Given the description of an element on the screen output the (x, y) to click on. 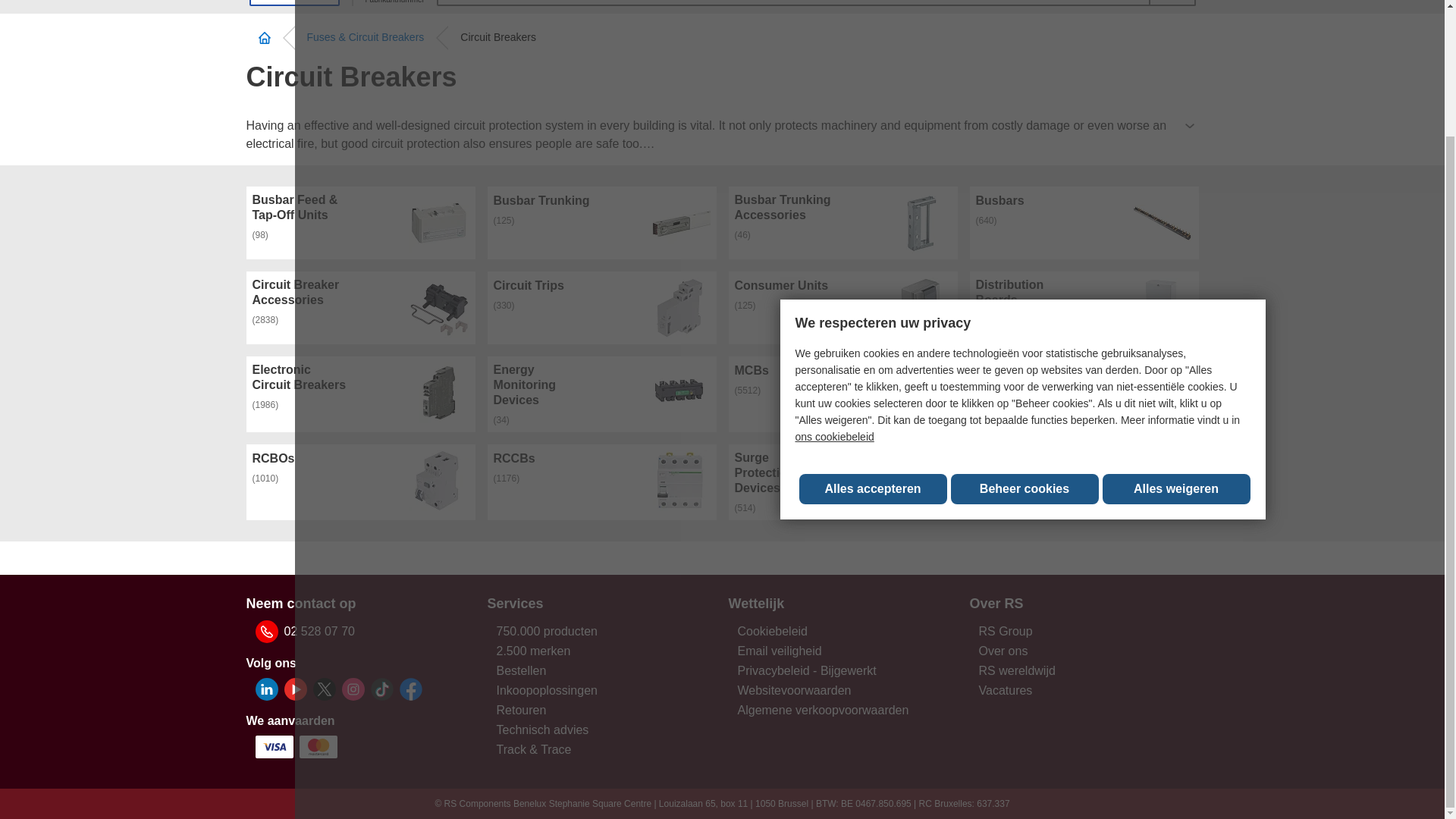
Menu (293, 2)
